Given the description of an element on the screen output the (x, y) to click on. 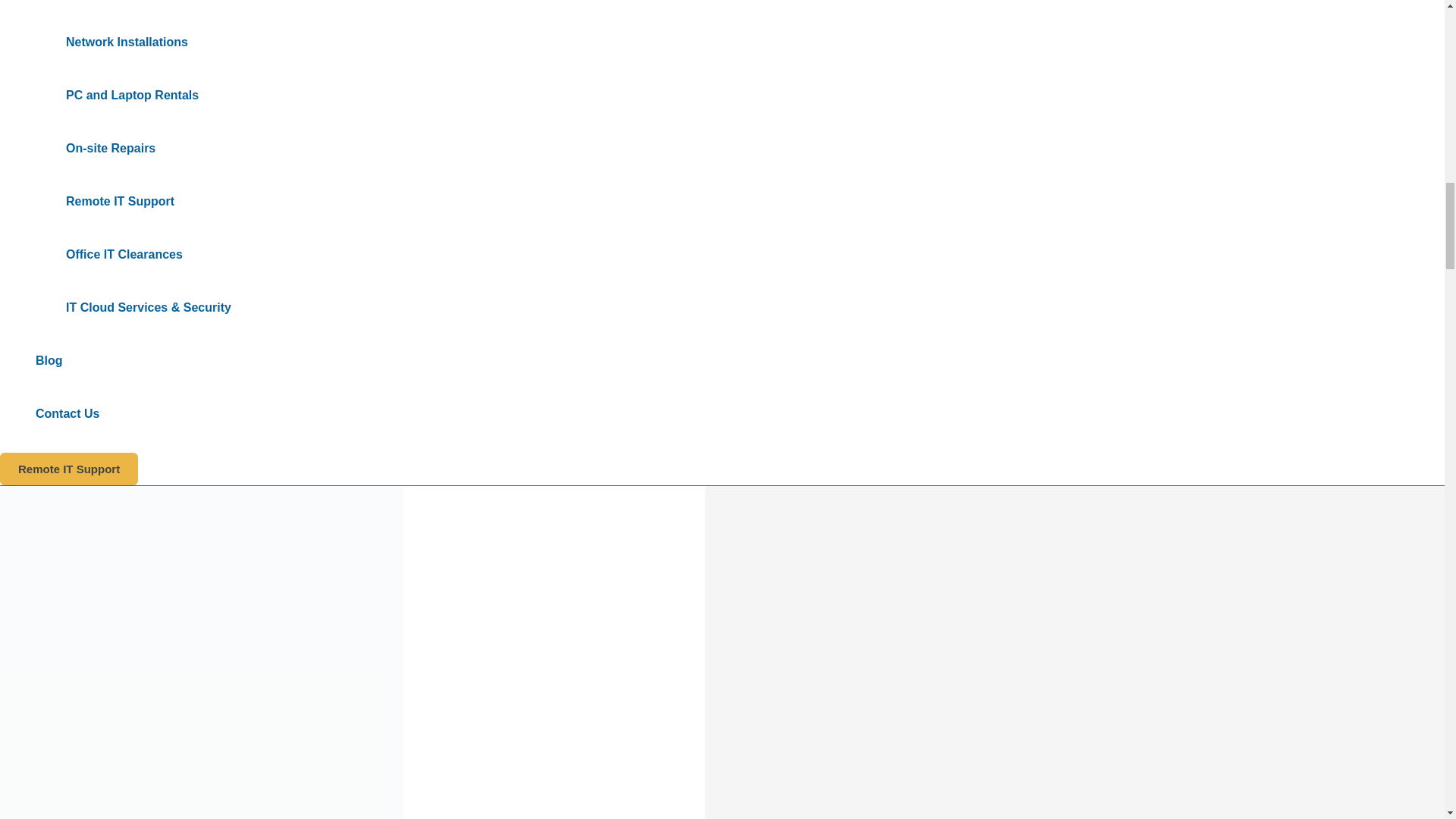
PC and Laptop Rentals (146, 95)
Remote IT Support (146, 201)
Network Installations (146, 41)
VOIP Telehone Systems (146, 7)
On-site Repairs (146, 148)
Office IT Clearances (146, 254)
